Given the description of an element on the screen output the (x, y) to click on. 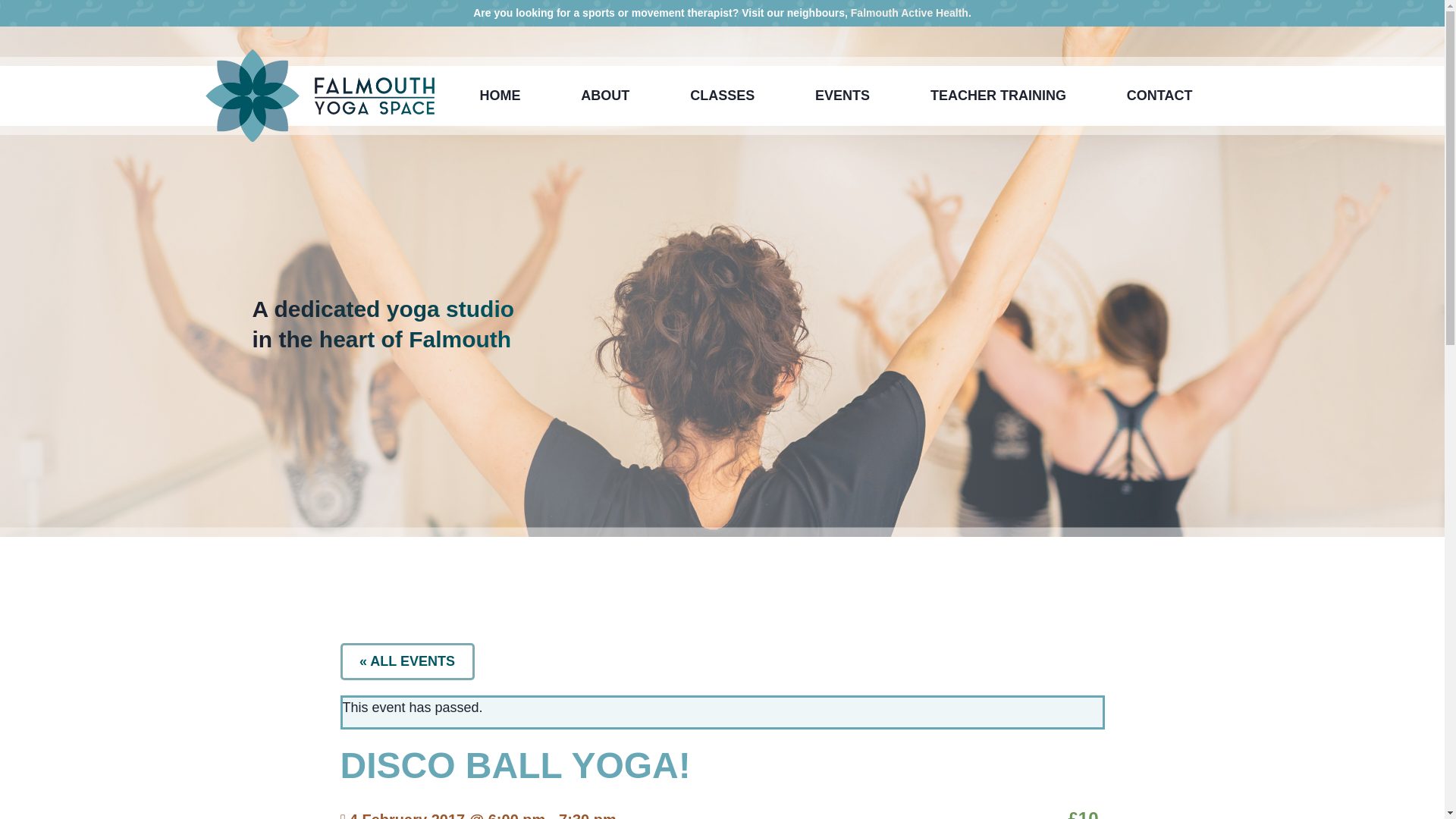
ABOUT (604, 95)
EVENTS (842, 95)
CONTACT (1159, 95)
HOME (499, 95)
TEACHER TRAINING (997, 95)
CLASSES (722, 95)
Falmouth Yoga Space (342, 95)
Falmouth Active Health (909, 12)
